Given the description of an element on the screen output the (x, y) to click on. 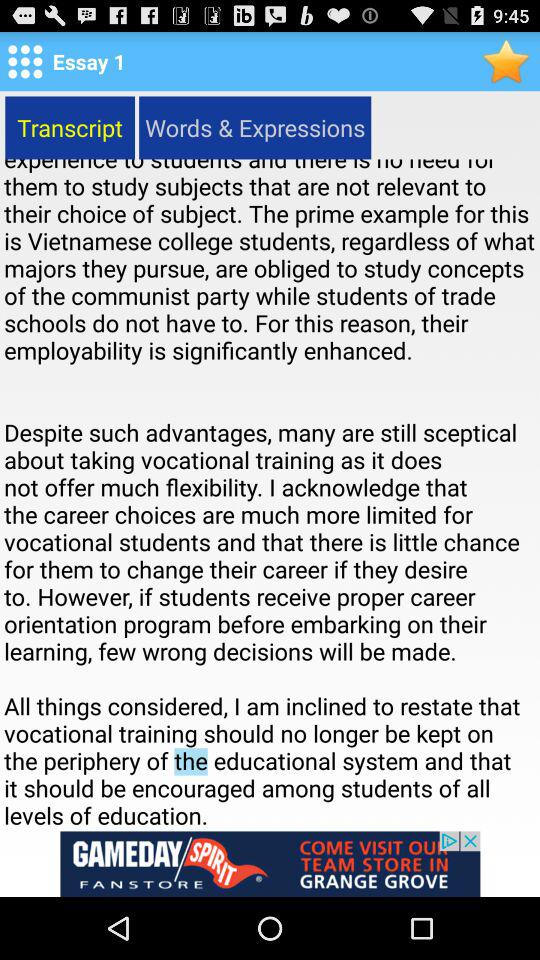
go to setting (25, 61)
